Given the description of an element on the screen output the (x, y) to click on. 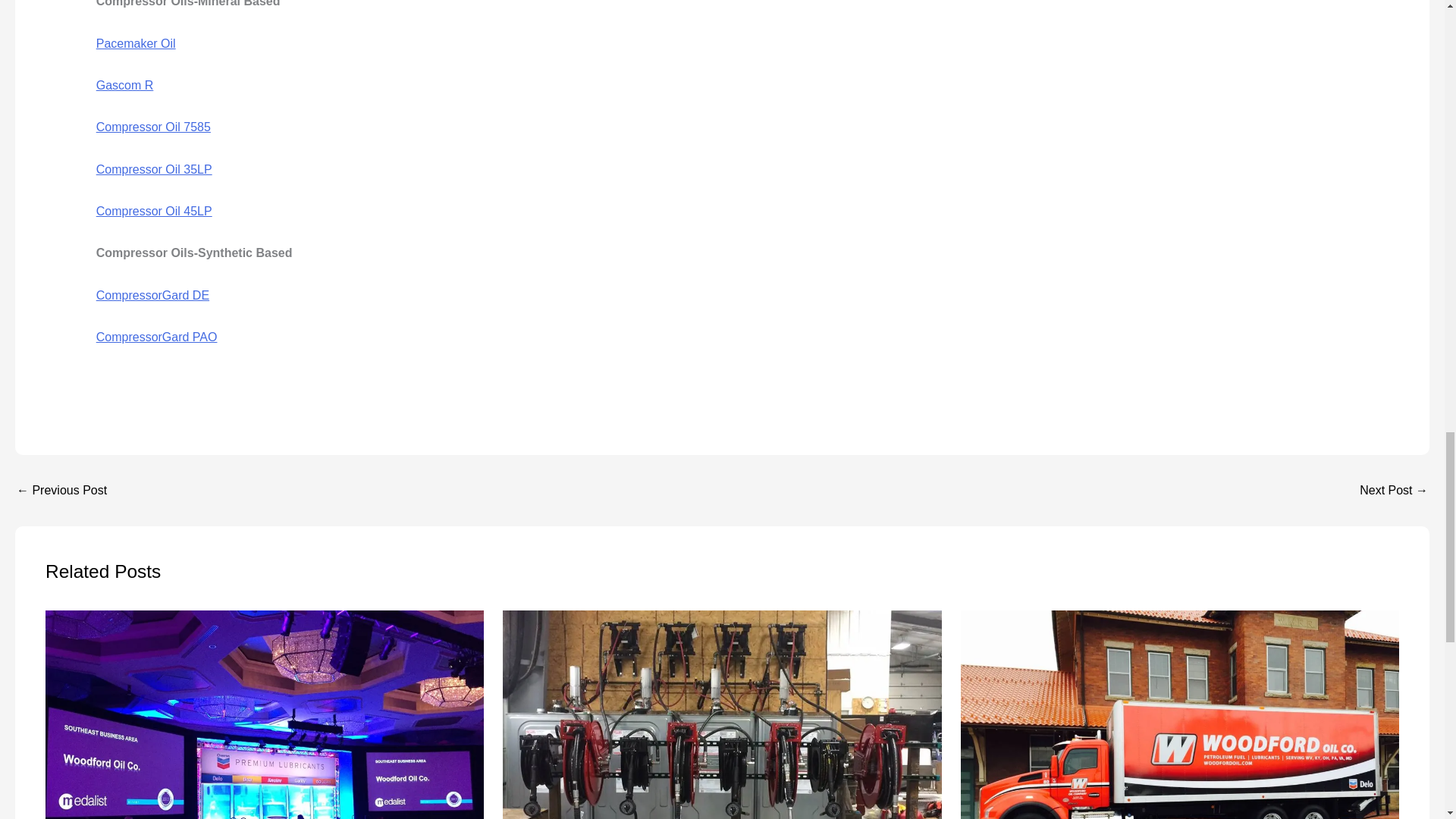
Proven CITGO and Mystik Lubricants for the Mining Industry (61, 490)
Contact Woodford for a Free Oil Analysis with LubeAlert (1393, 490)
